Given the description of an element on the screen output the (x, y) to click on. 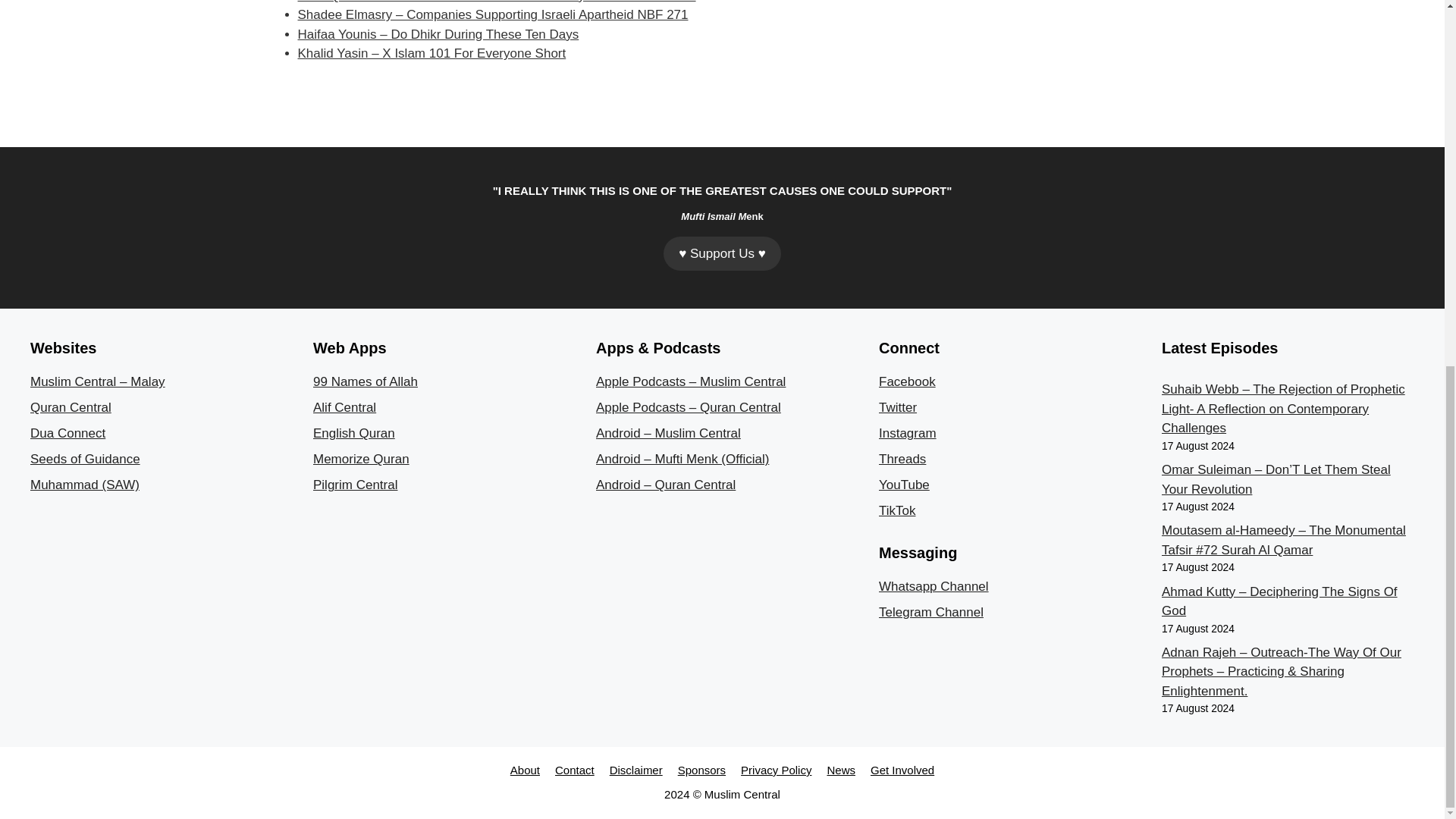
Quran Central (71, 407)
Memorize Quran (361, 459)
99 Names of Allah (365, 381)
English Quran (353, 432)
Pilgrim Central (355, 484)
Seeds of Guidance (84, 459)
Alif Central (344, 407)
Dua Connect (67, 432)
